Given the description of an element on the screen output the (x, y) to click on. 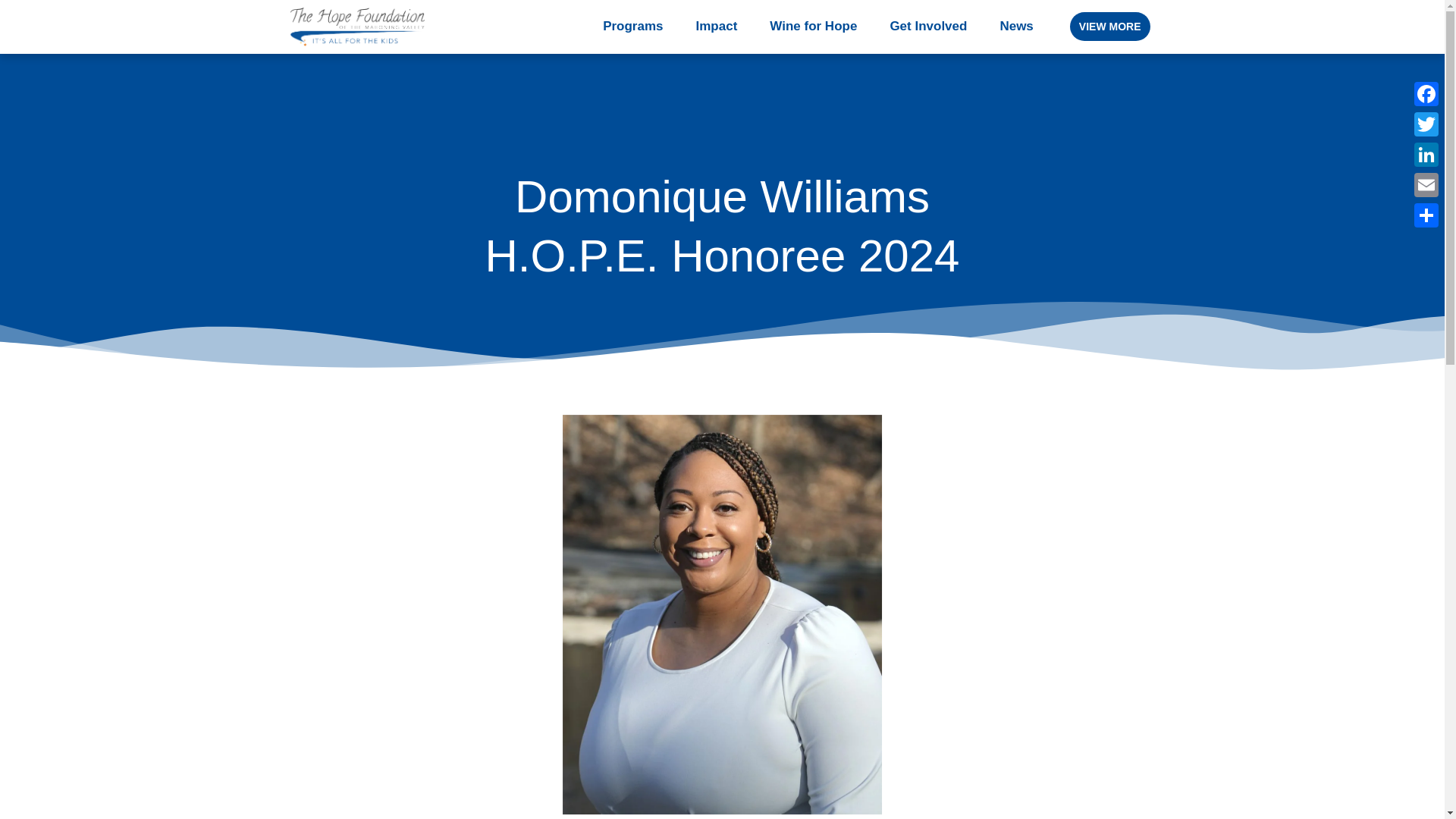
Facebook (1425, 93)
logo - Hope Foundation of the Mahoning Valley (356, 26)
